Given the description of an element on the screen output the (x, y) to click on. 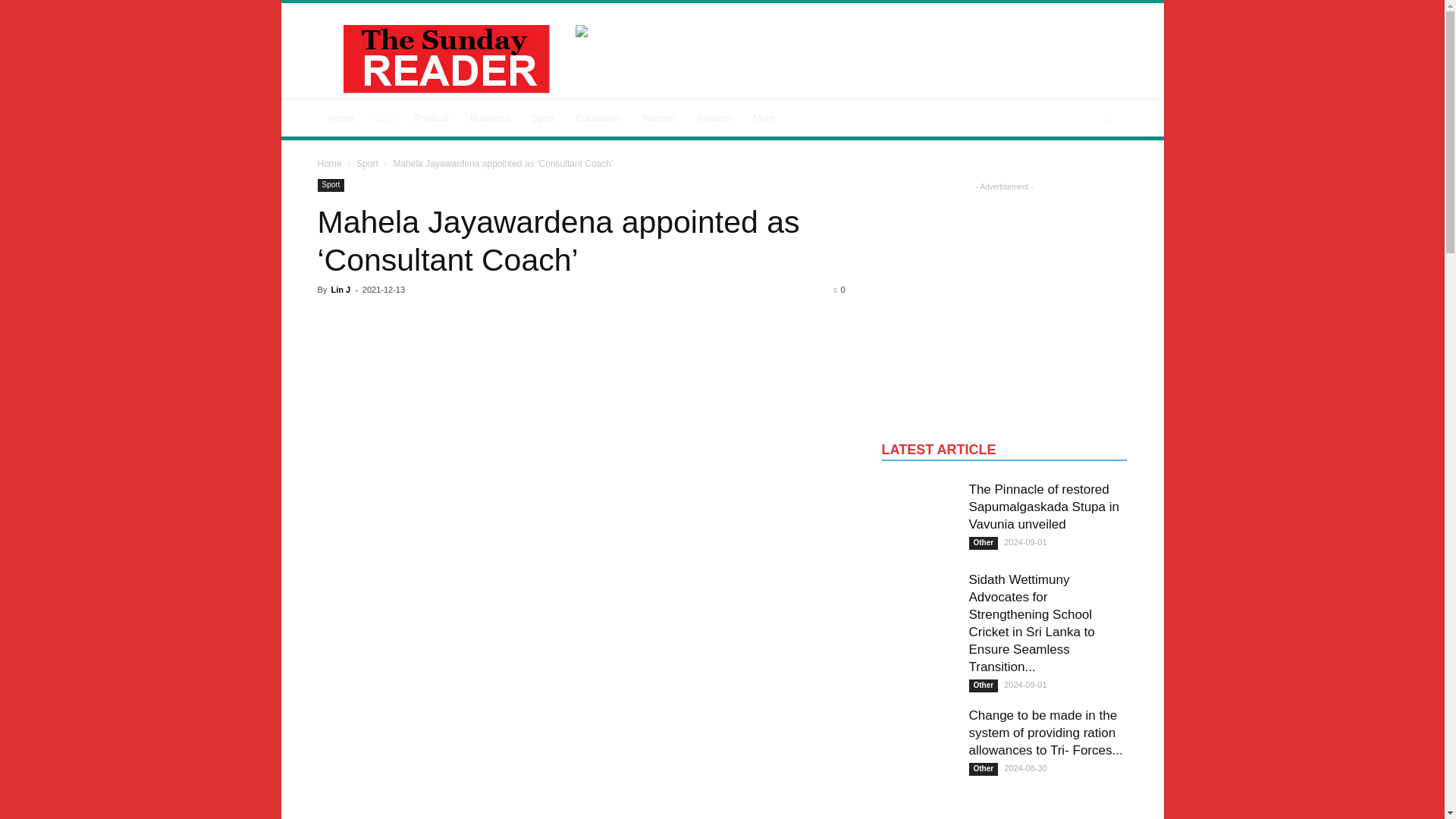
View all posts in Sport (367, 163)
More (764, 117)
Business (490, 117)
Home (341, 117)
Sport (541, 117)
Political (432, 117)
Education (598, 117)
Aviation (713, 117)
Search (1083, 178)
Tourism (657, 117)
